Given the description of an element on the screen output the (x, y) to click on. 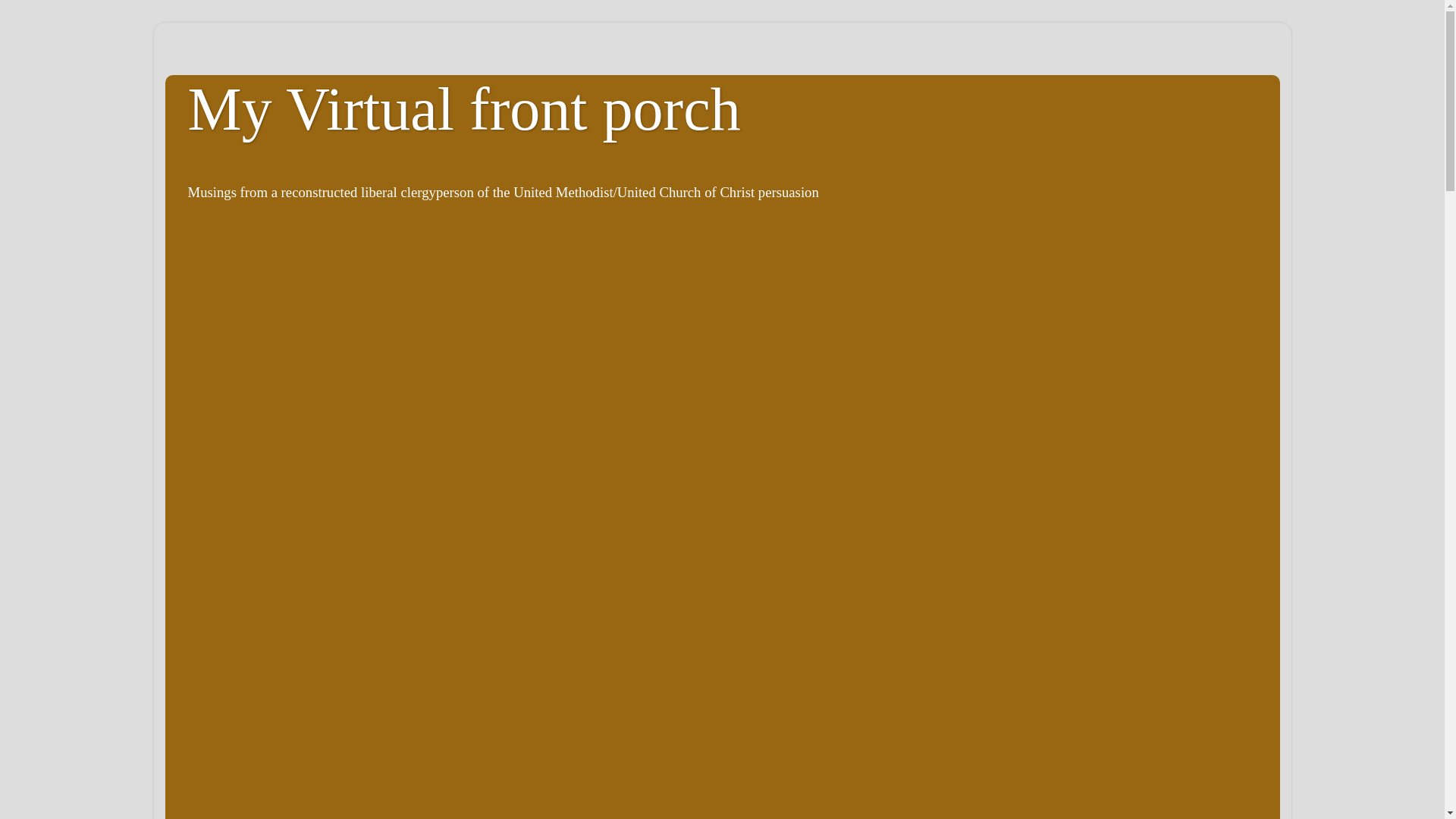
My Virtual front porch (464, 109)
